Given the description of an element on the screen output the (x, y) to click on. 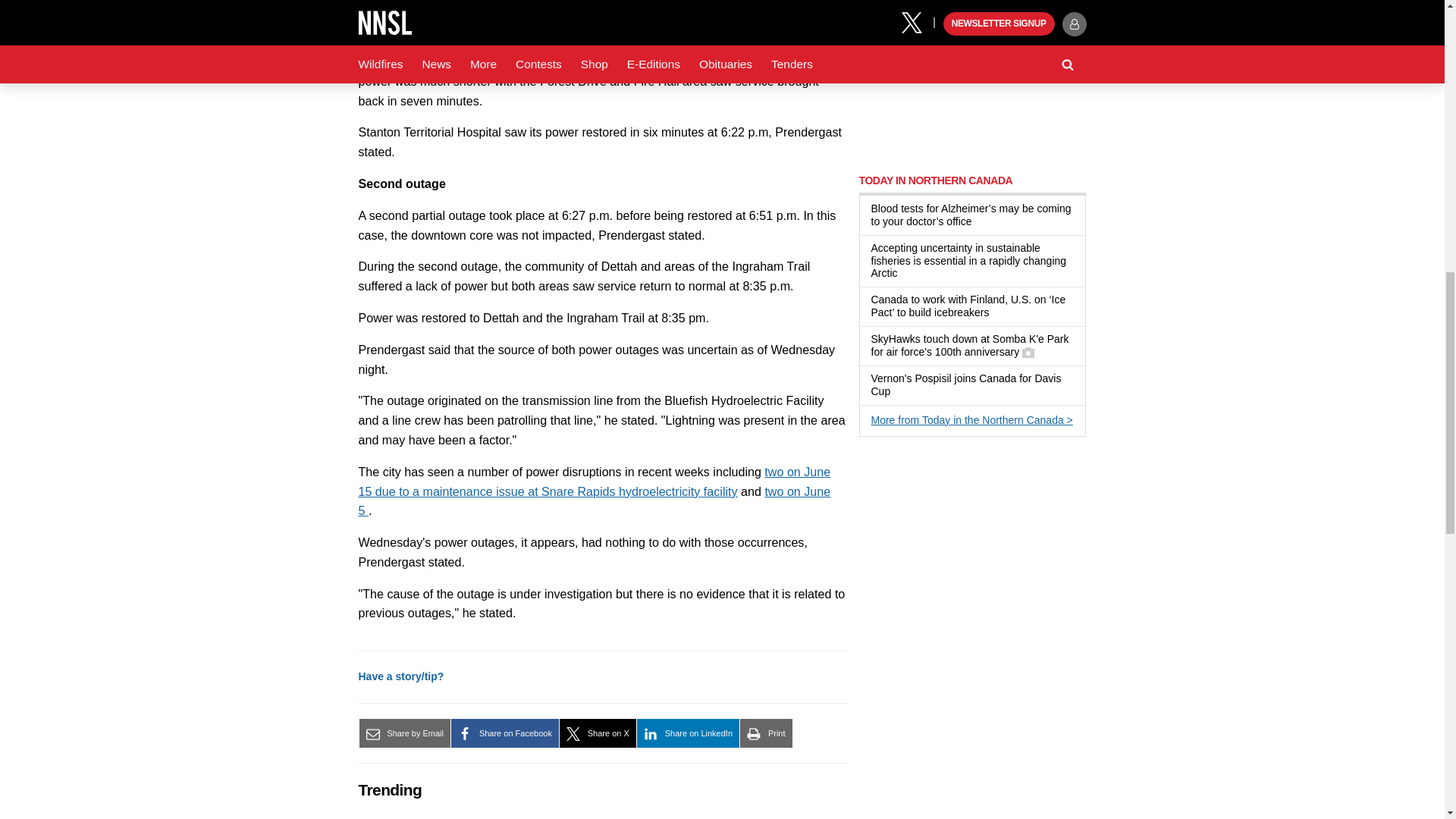
Has a gallery (1027, 352)
